Given the description of an element on the screen output the (x, y) to click on. 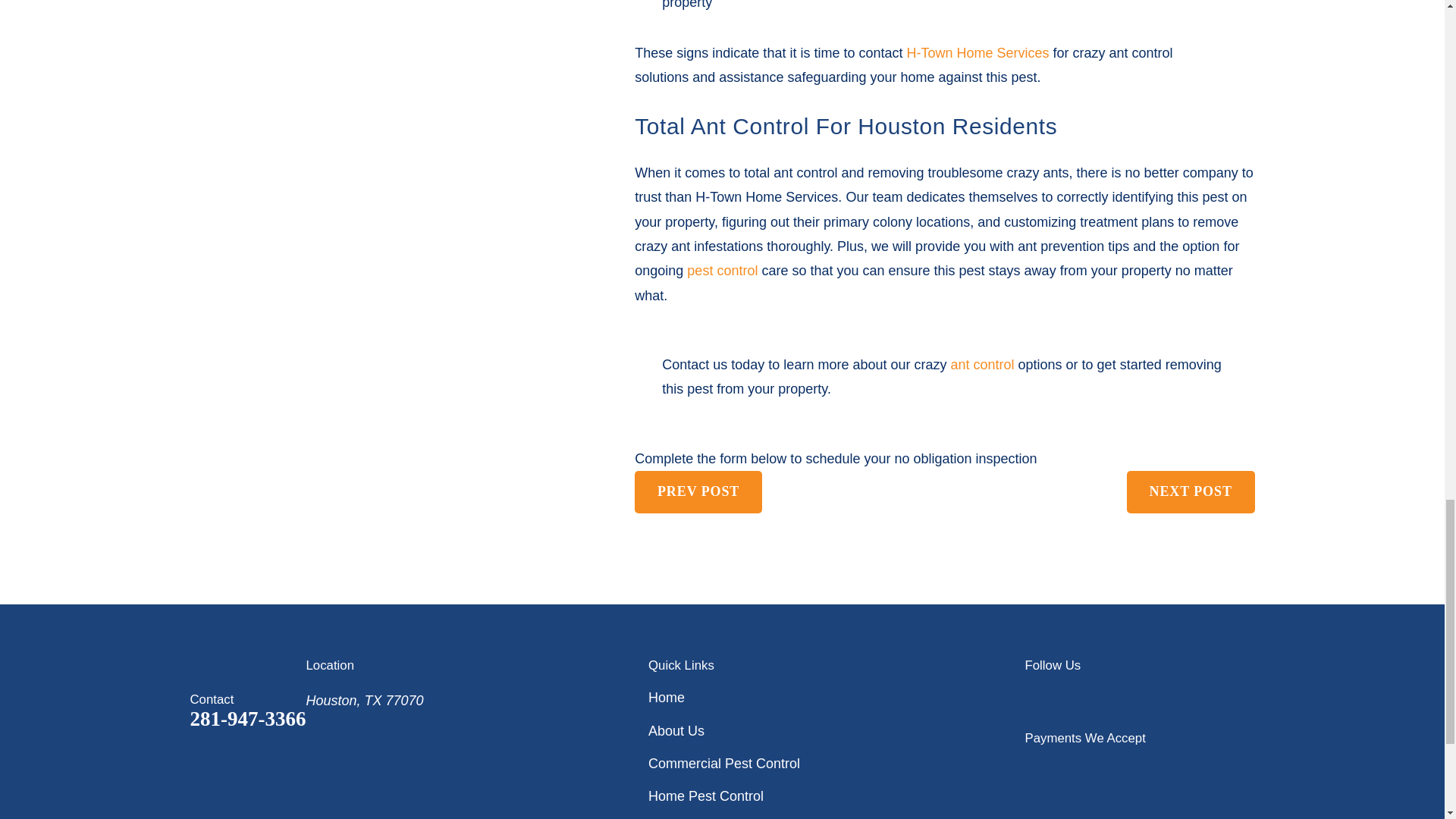
MasterCard (1117, 767)
Yelp (1083, 697)
AMEX (1074, 767)
Discover (1160, 767)
Cash (1203, 767)
Google Business Profile (1034, 697)
Visa (1031, 767)
